Given the description of an element on the screen output the (x, y) to click on. 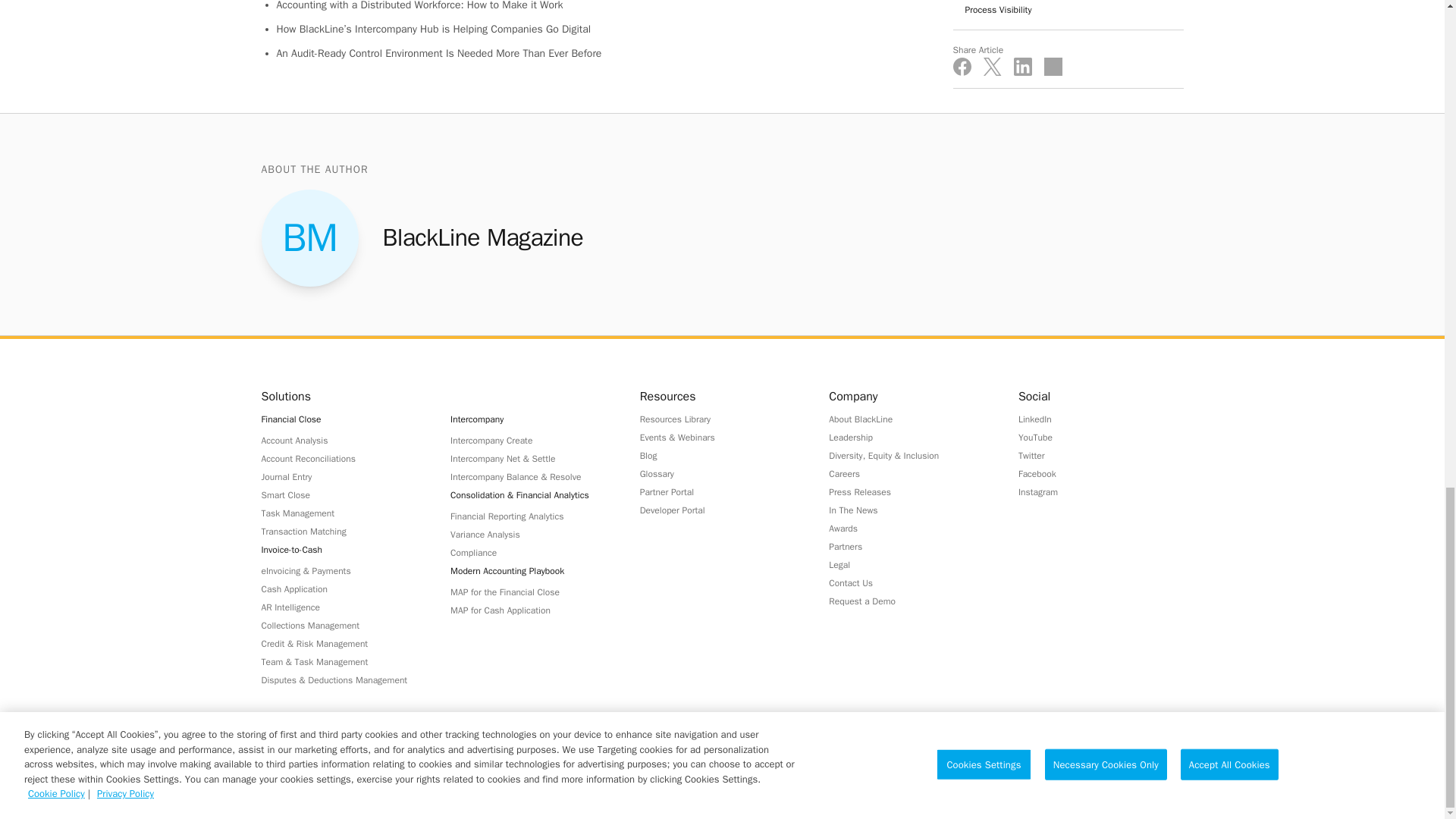
Task Management (343, 513)
Journal Entry (343, 476)
Intercompany Create (532, 440)
Cash Application (343, 589)
AR Intelligence (343, 607)
Variance Analysis (532, 534)
Account Analysis (343, 440)
Collections Management (343, 625)
Financial Reporting Analytics (532, 516)
MAP for the Financial Close (532, 591)
